Given the description of an element on the screen output the (x, y) to click on. 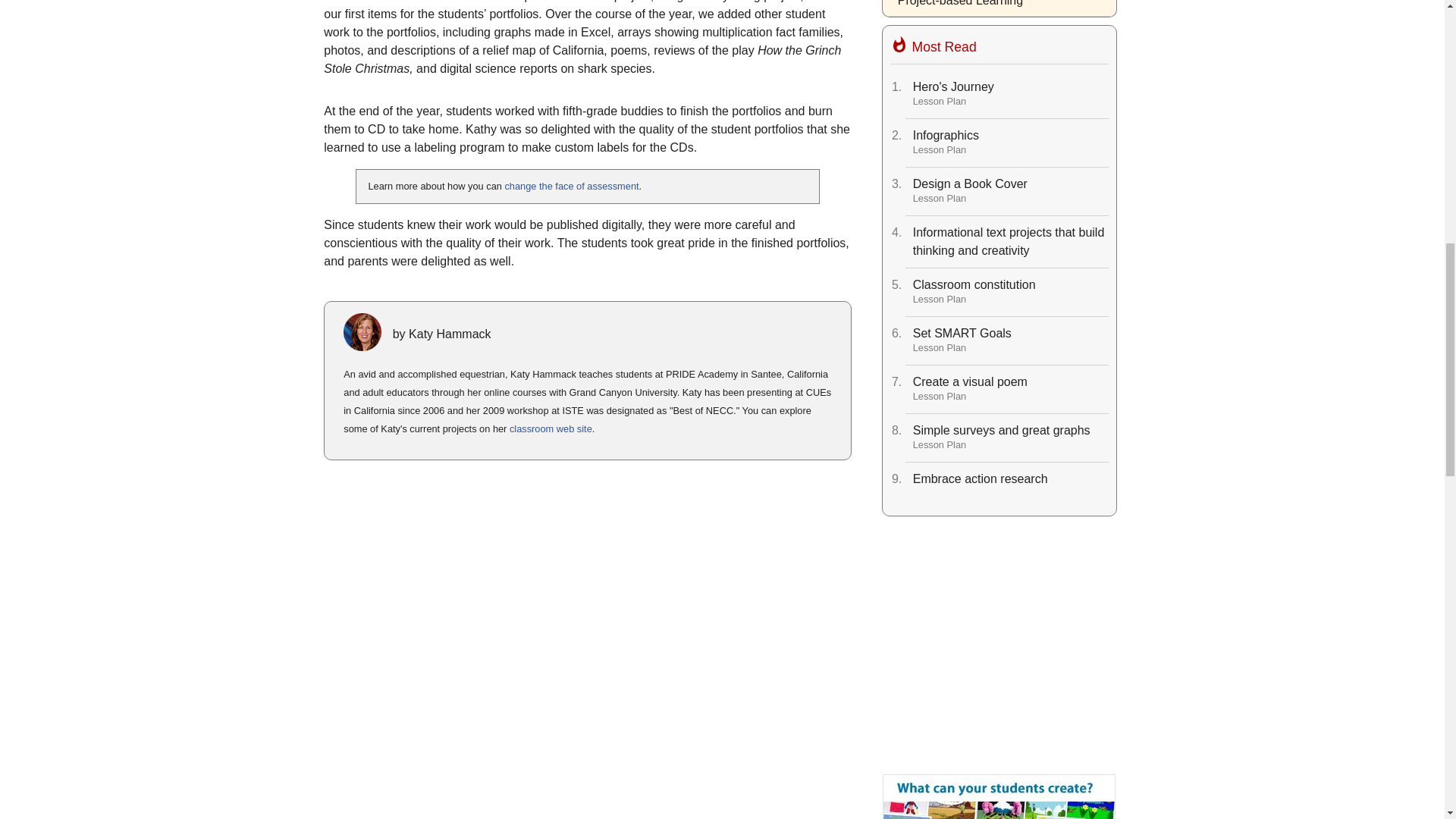
What can your students create? (1010, 293)
Embrace action research (1010, 341)
Project-based Learning (998, 796)
classroom web site (1010, 143)
